Given the description of an element on the screen output the (x, y) to click on. 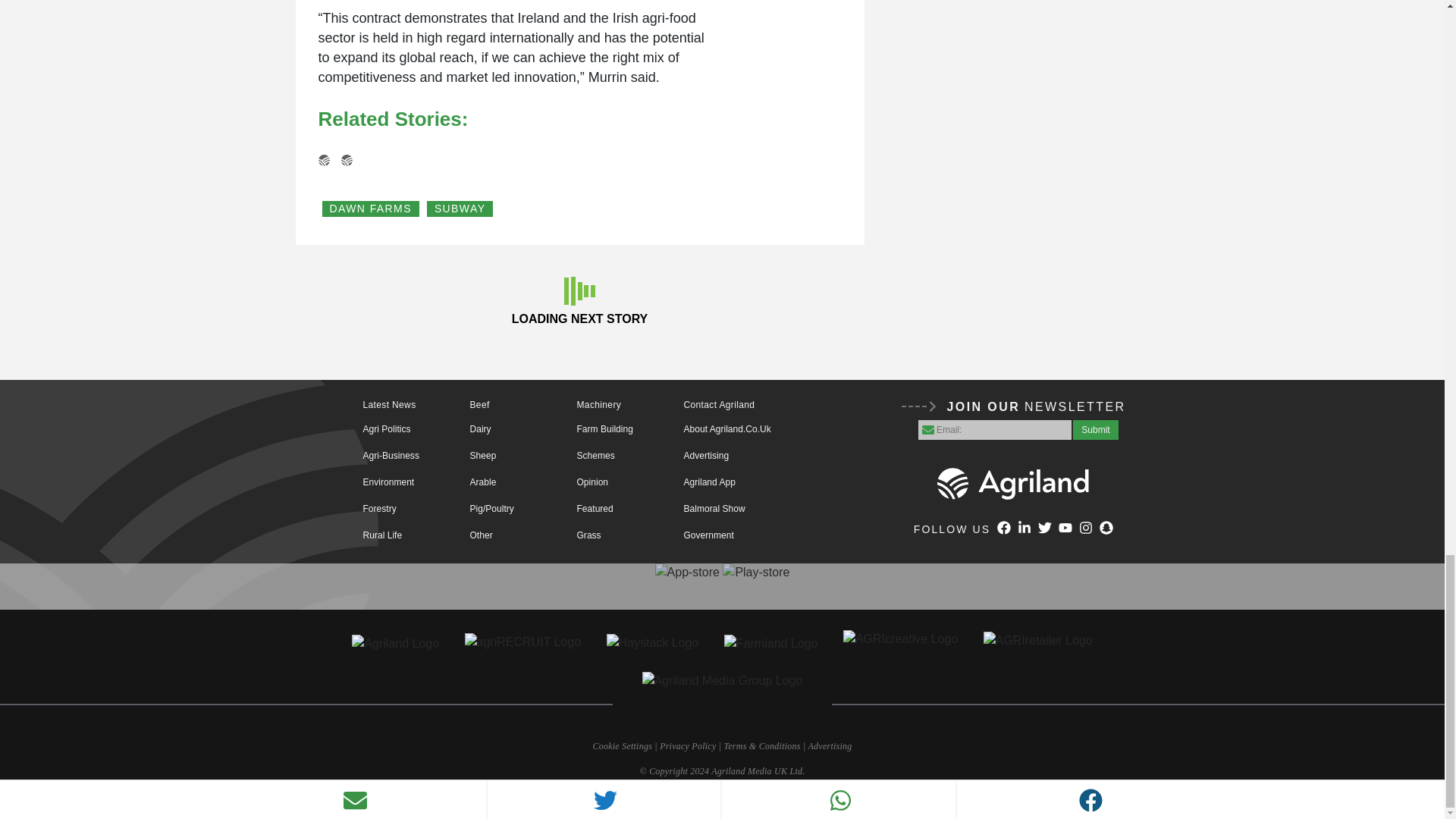
Link to Facebook (1003, 529)
Link to Snap Chat (1106, 529)
Link to Linked In (1023, 529)
Link to Twitter (1044, 529)
Link to Instagram (1085, 529)
Link to You Tube (1064, 529)
